Given the description of an element on the screen output the (x, y) to click on. 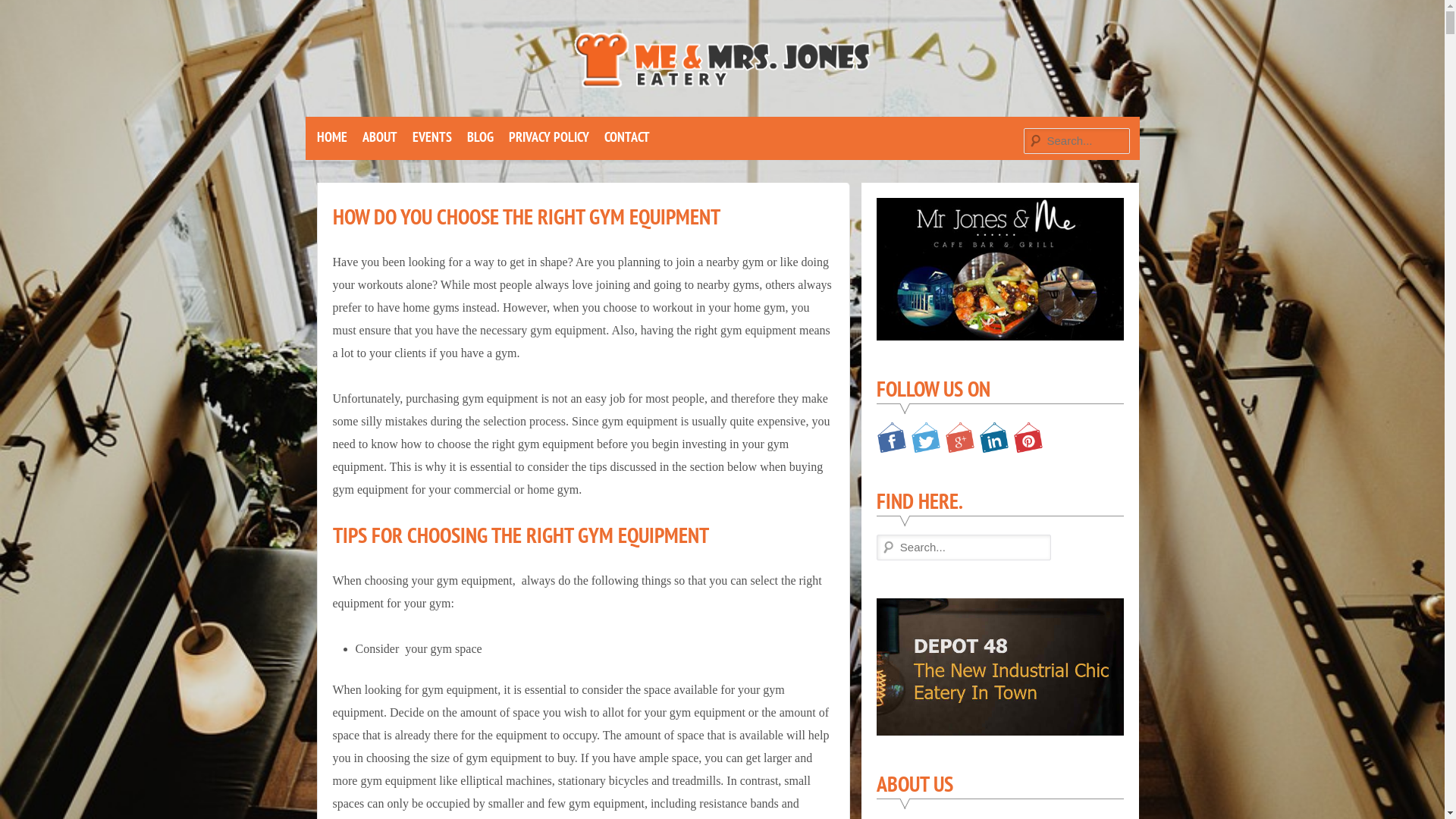
EVENTS Element type: text (431, 136)
BLOG Element type: text (480, 136)
Me & Mrs. Jones Element type: text (595, 146)
PRIVACY POLICY Element type: text (548, 136)
Search Element type: text (23, 12)
CONTACT Element type: text (626, 136)
ABOUT Element type: text (379, 136)
HOW DO YOU CHOOSE THE RIGHT GYM EQUIPMENT Element type: text (525, 216)
HOME Element type: text (331, 136)
